Given the description of an element on the screen output the (x, y) to click on. 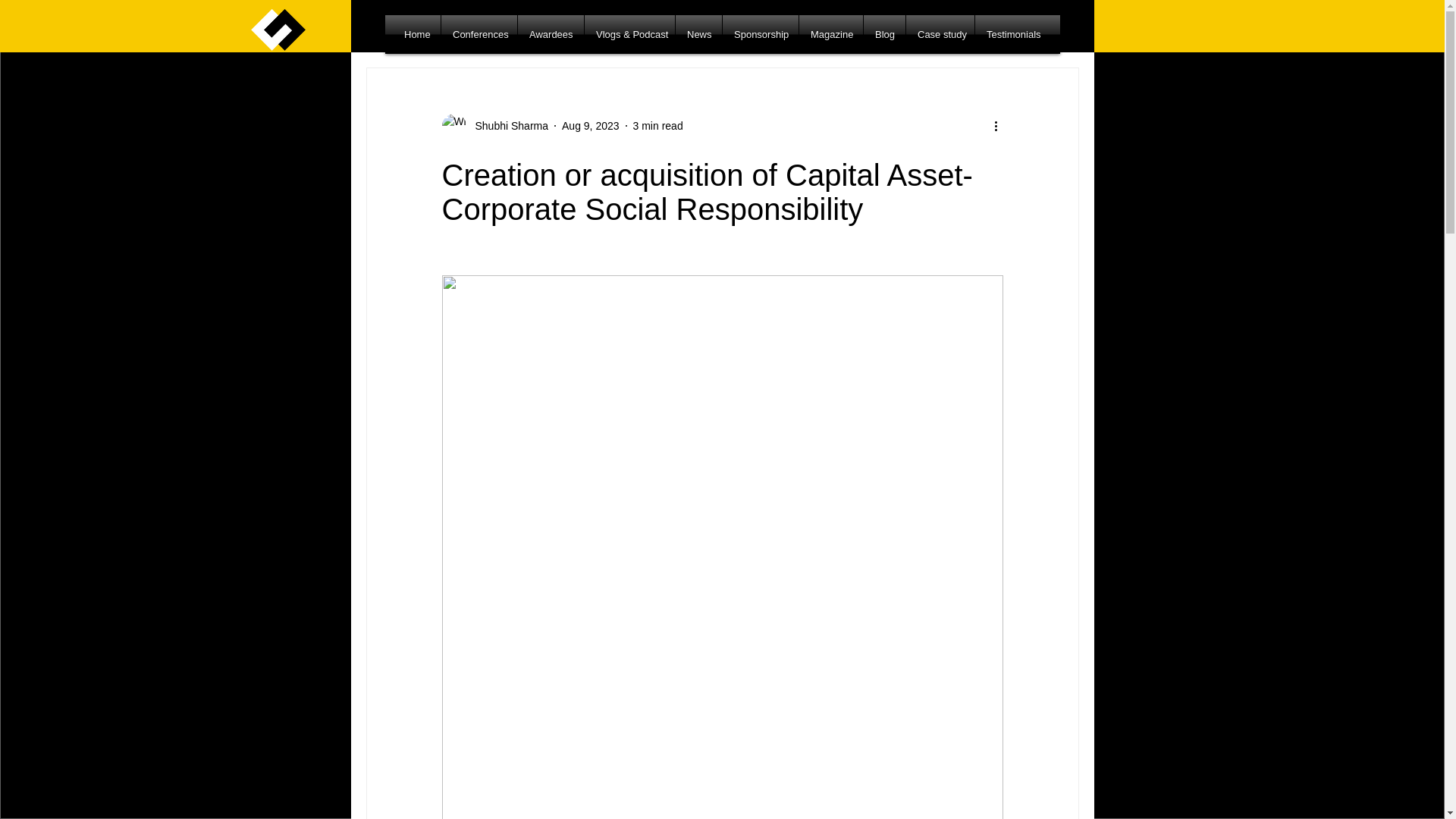
3 min read (657, 125)
Home (417, 34)
Blog (884, 34)
News (698, 34)
Aug 9, 2023 (591, 125)
Sponsorship (759, 34)
Shubhi Sharma (494, 125)
Case study (939, 34)
Magazine (831, 34)
Shubhi Sharma (506, 125)
